Given the description of an element on the screen output the (x, y) to click on. 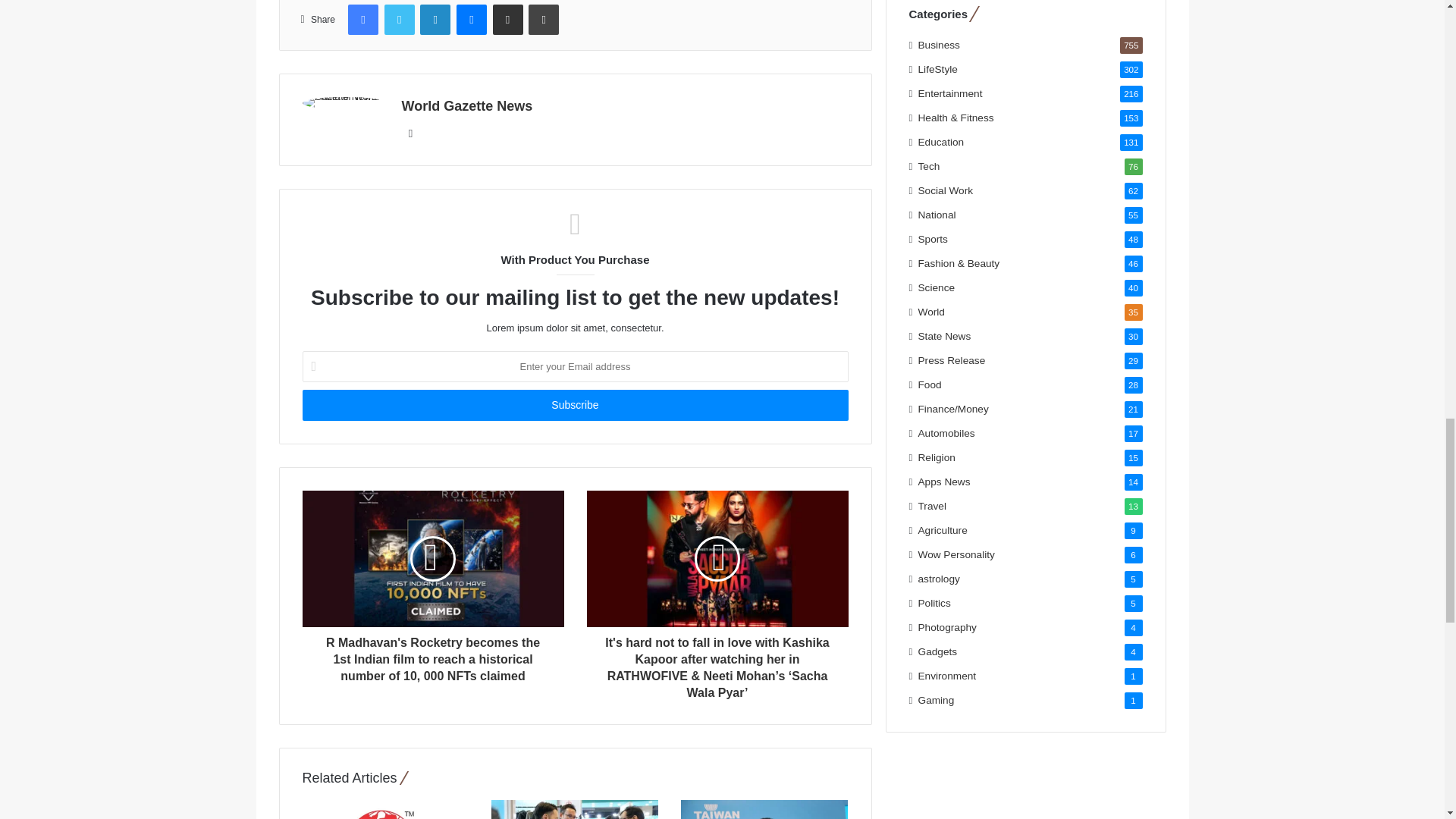
Subscribe (574, 404)
